Given the description of an element on the screen output the (x, y) to click on. 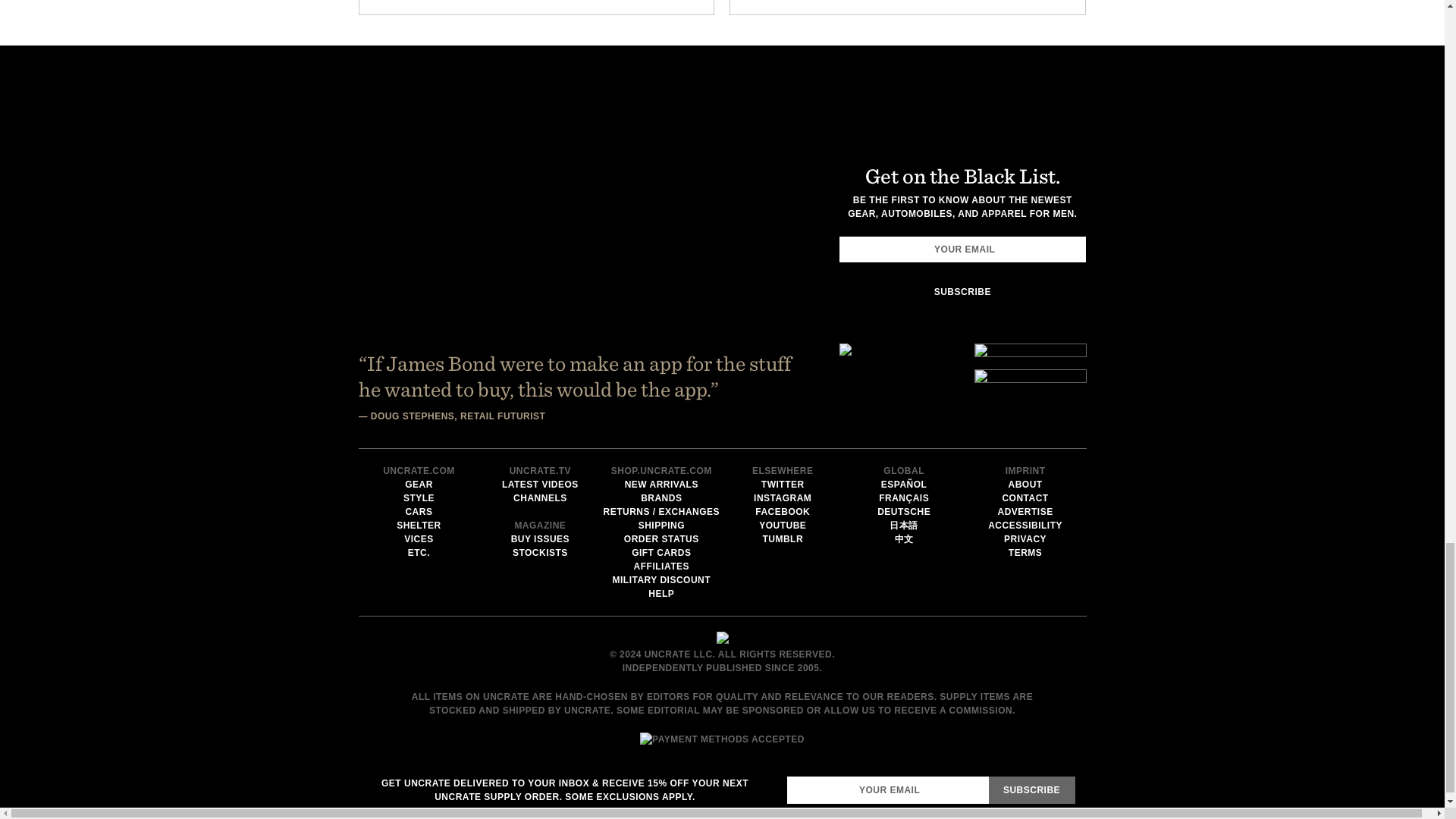
Subscribe (1031, 789)
Subscribe (962, 291)
